Given the description of an element on the screen output the (x, y) to click on. 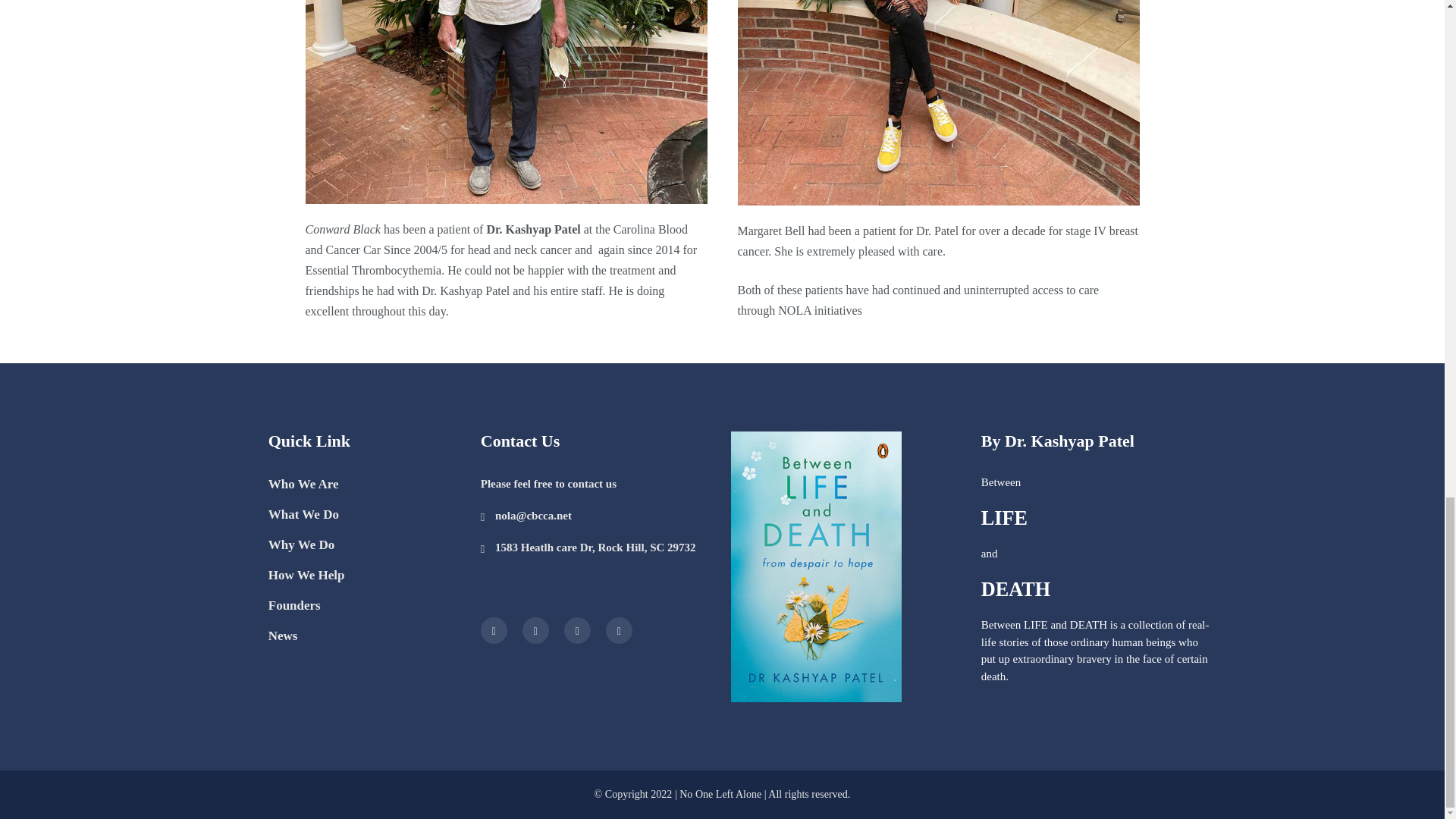
Why We Do (300, 544)
How We Help (306, 575)
What We Do (303, 513)
News (282, 635)
Founders (293, 605)
Who We Are (303, 483)
